Given the description of an element on the screen output the (x, y) to click on. 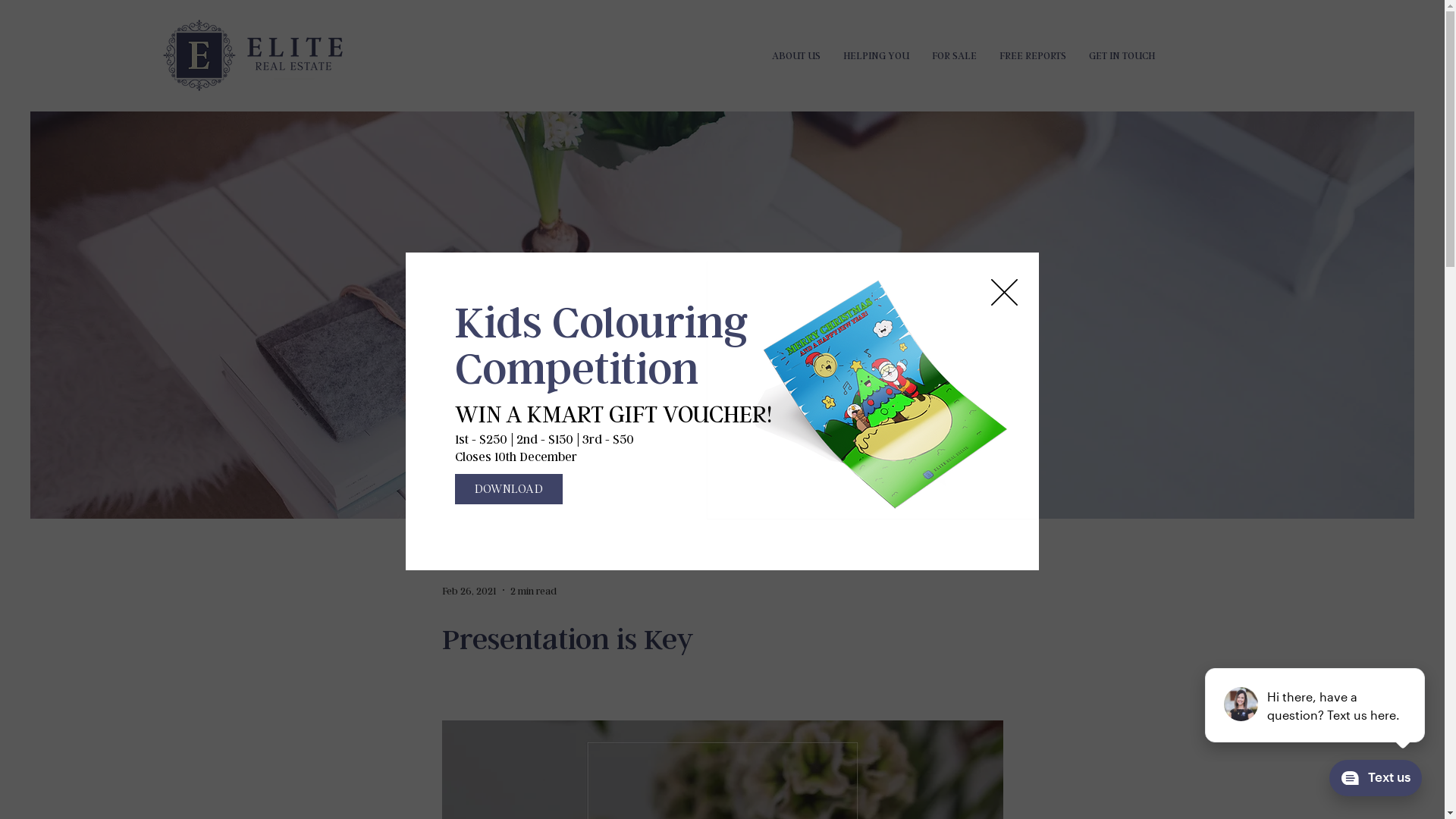
DOWNLOAD Element type: text (508, 488)
GET IN TOUCH Element type: text (1121, 55)
BACK TO POSTS Element type: text (721, 466)
FOR SALE Element type: text (954, 55)
podium webchat widget prompt Element type: hover (1315, 705)
Back to site Element type: hover (1004, 292)
